Given the description of an element on the screen output the (x, y) to click on. 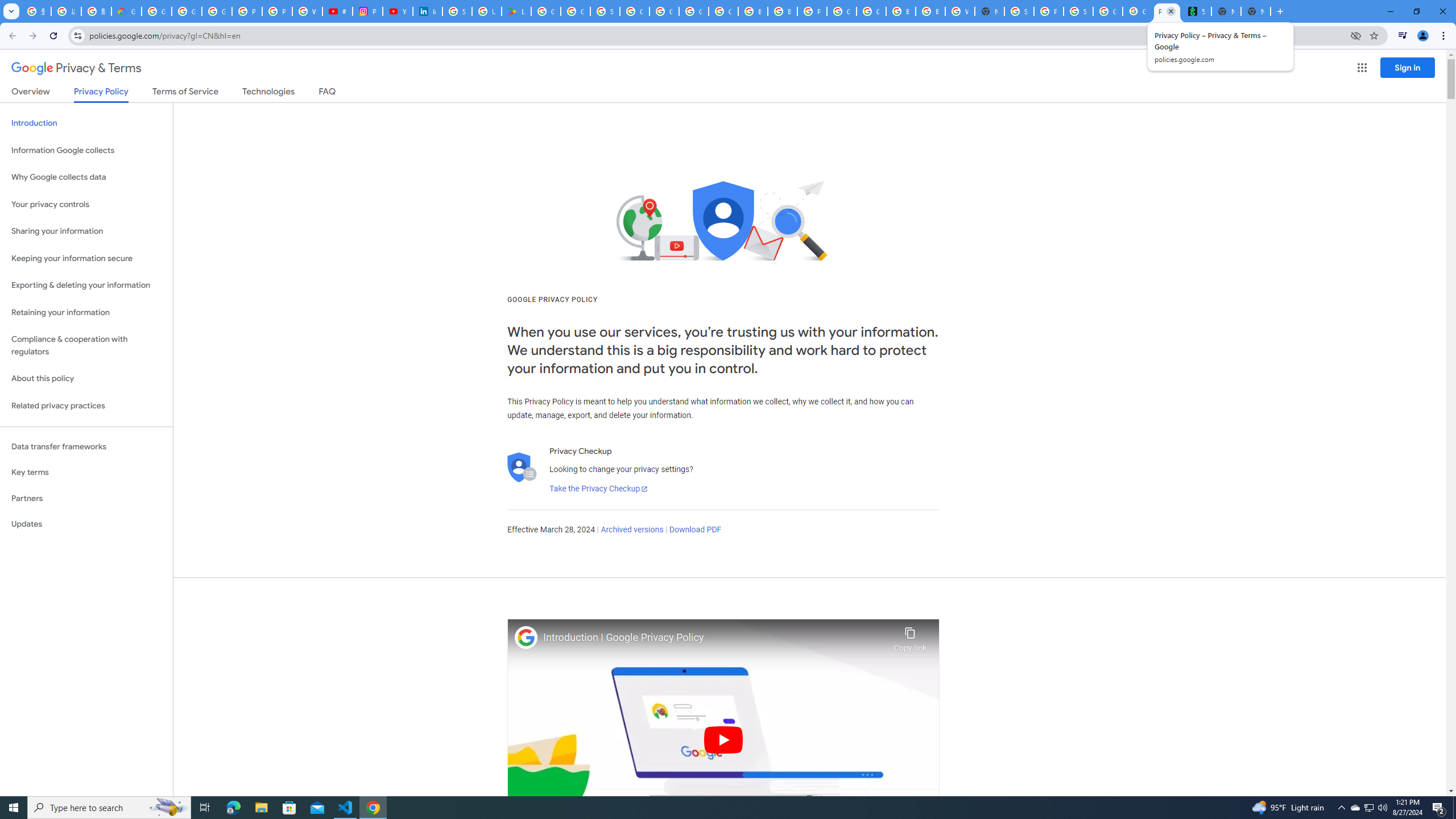
Sign in - Google Accounts (1018, 11)
#nbabasketballhighlights - YouTube (337, 11)
Information Google collects (86, 150)
